Given the description of an element on the screen output the (x, y) to click on. 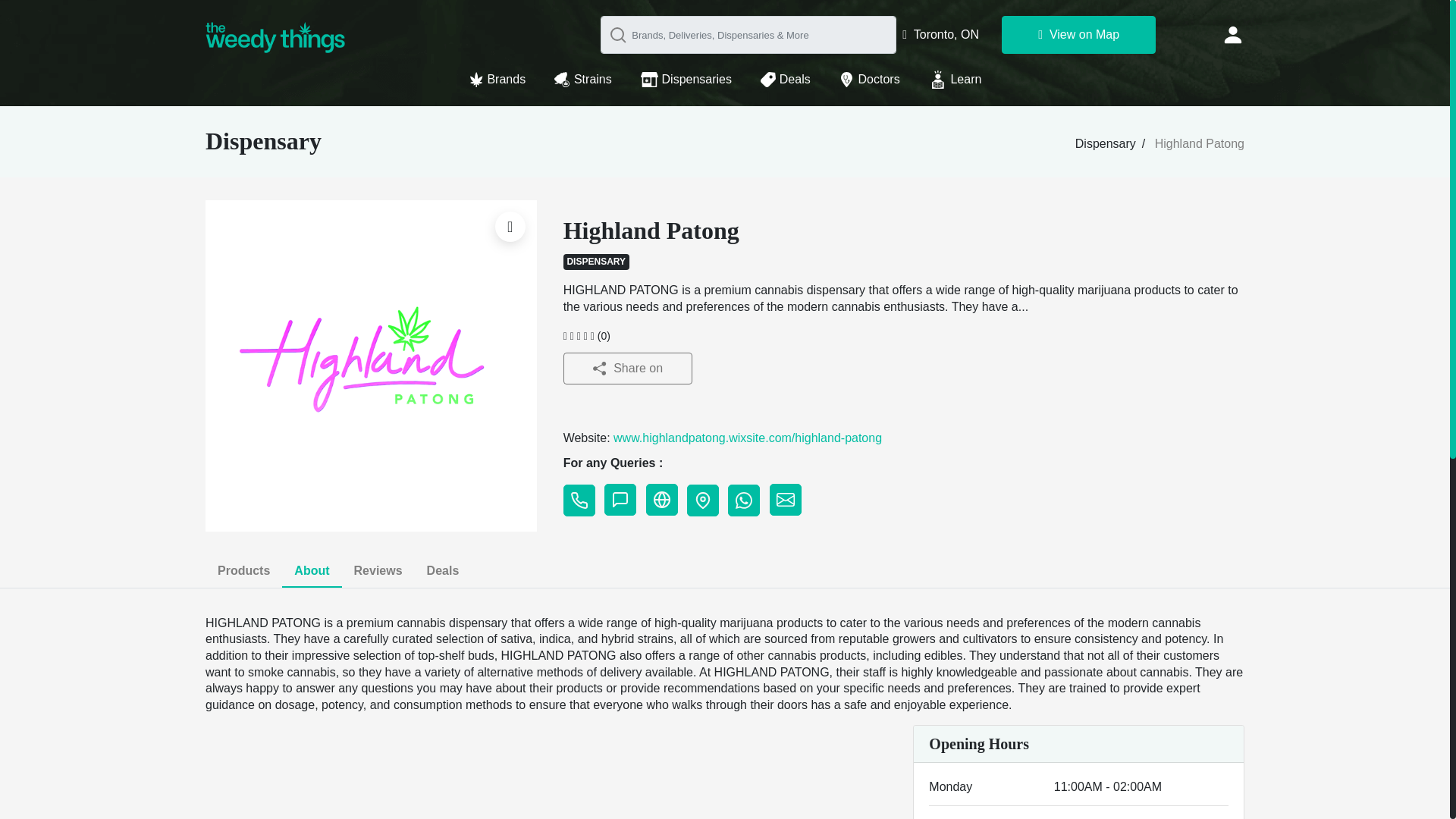
  View on Map (1078, 34)
Brands (505, 76)
Strains (591, 76)
Learn (955, 76)
Dispensaries (694, 76)
Doctors (877, 76)
  Toronto, ON (940, 33)
Deals (793, 76)
